Given the description of an element on the screen output the (x, y) to click on. 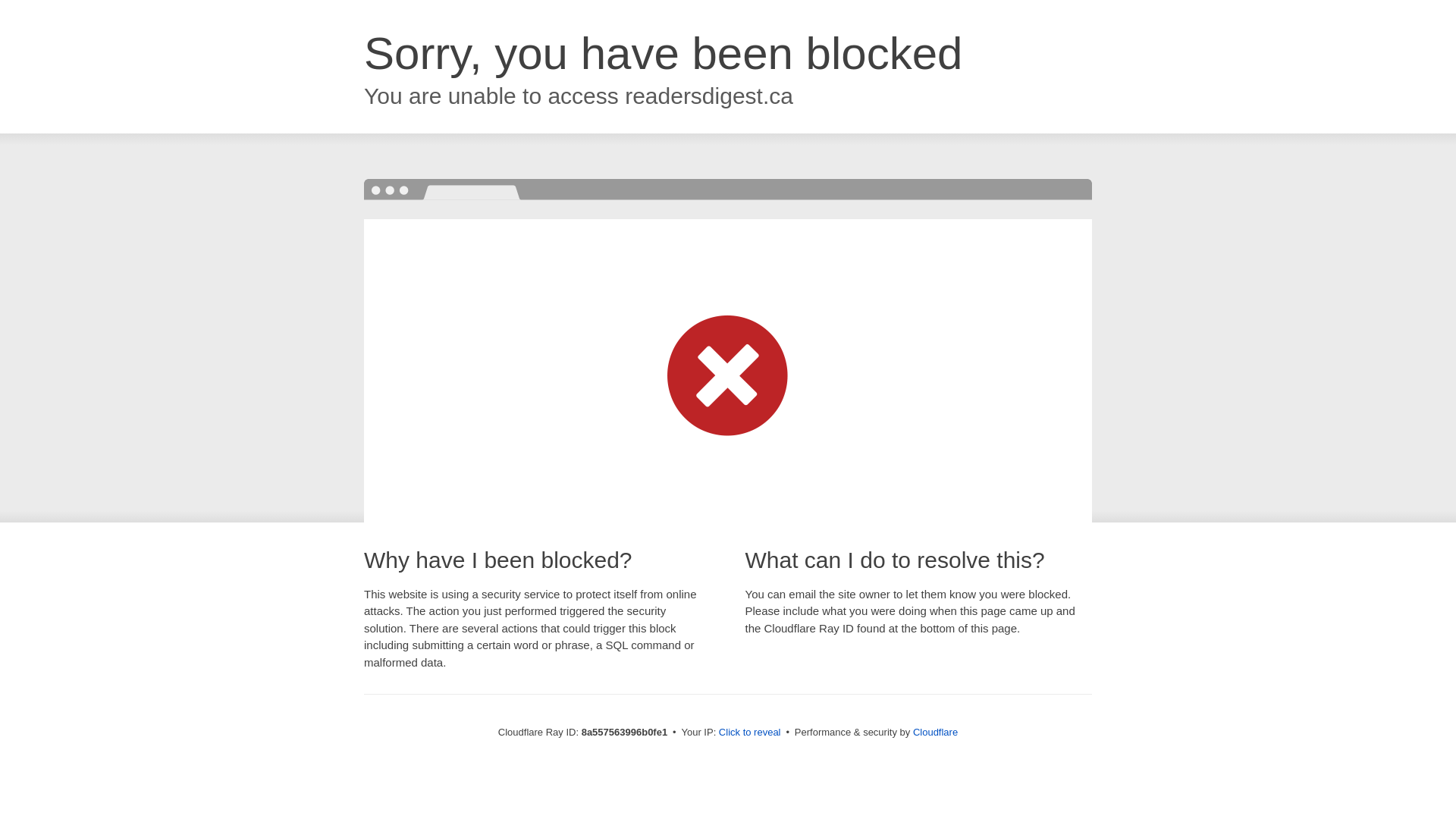
Click to reveal (749, 732)
Cloudflare (935, 731)
